Given the description of an element on the screen output the (x, y) to click on. 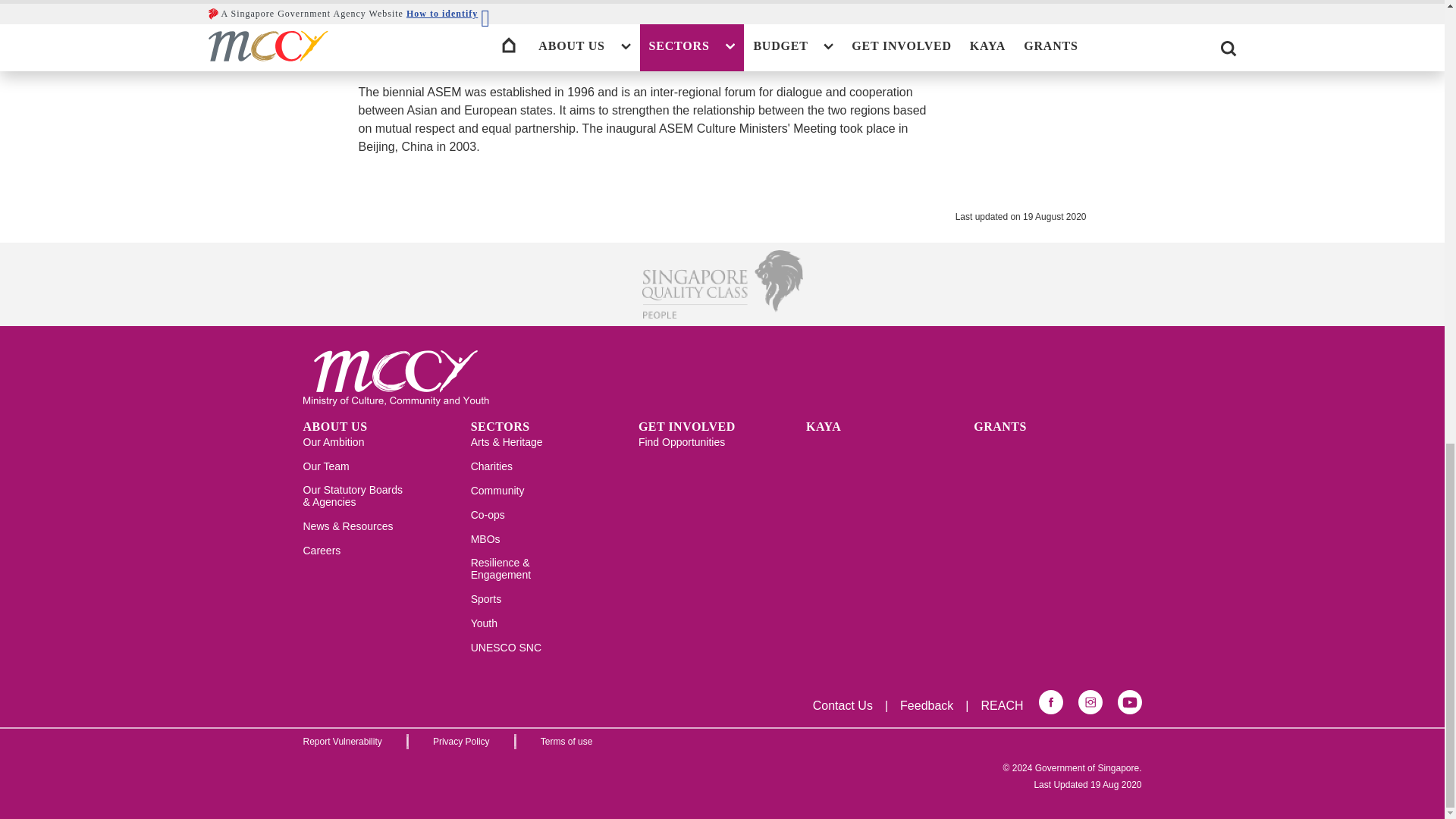
Our Ambition (333, 447)
Ministry of Communications and Information (643, 12)
Our Team (325, 472)
